Given the description of an element on the screen output the (x, y) to click on. 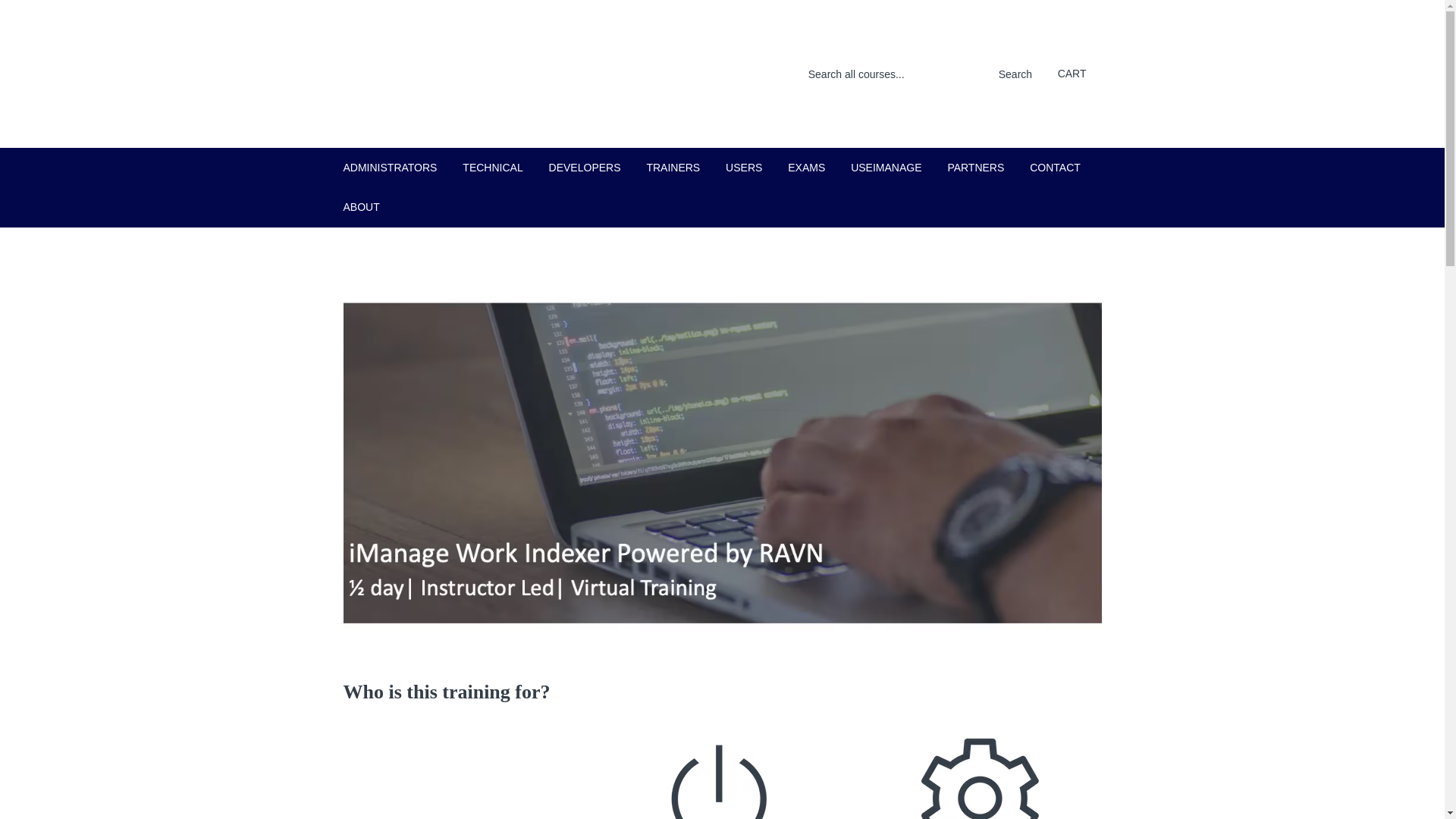
USERS (743, 167)
USEIMANAGE (886, 167)
TECHNICAL (492, 167)
ABOUT (361, 206)
CONTACT (1054, 167)
DEVELOPERS (584, 167)
CART (1072, 73)
Search (1010, 74)
PARTNERS (975, 167)
TRAINERS (672, 167)
